Given the description of an element on the screen output the (x, y) to click on. 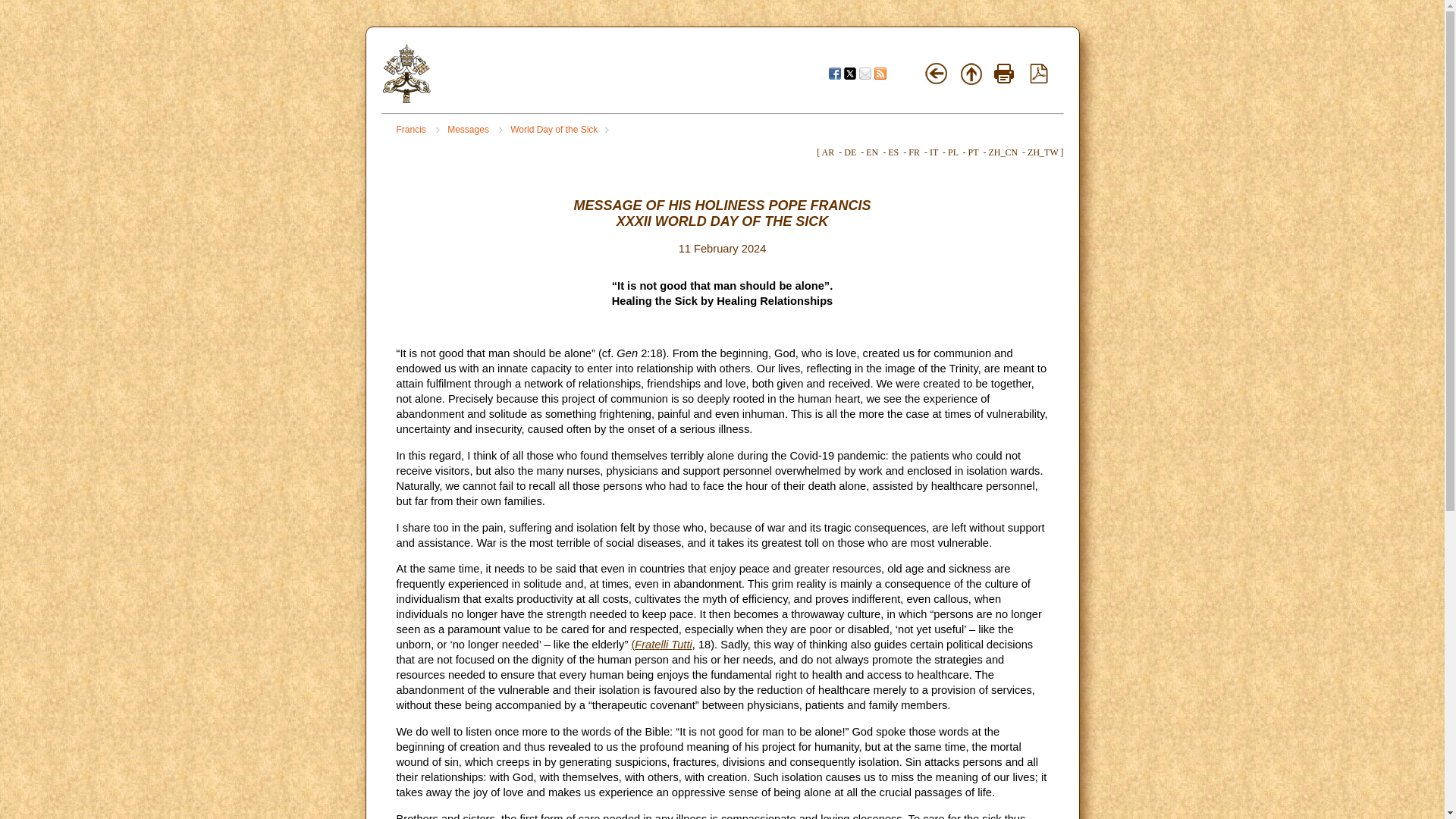
AR (828, 152)
Top (971, 73)
Messages (474, 129)
Facebook (834, 73)
Mail (864, 73)
Twitter (850, 73)
PL (952, 152)
DE (850, 152)
Feed RSS (880, 73)
EN (871, 152)
Print (1003, 73)
PT (973, 152)
PDF (1038, 79)
pdf (1038, 73)
FR (914, 152)
